Given the description of an element on the screen output the (x, y) to click on. 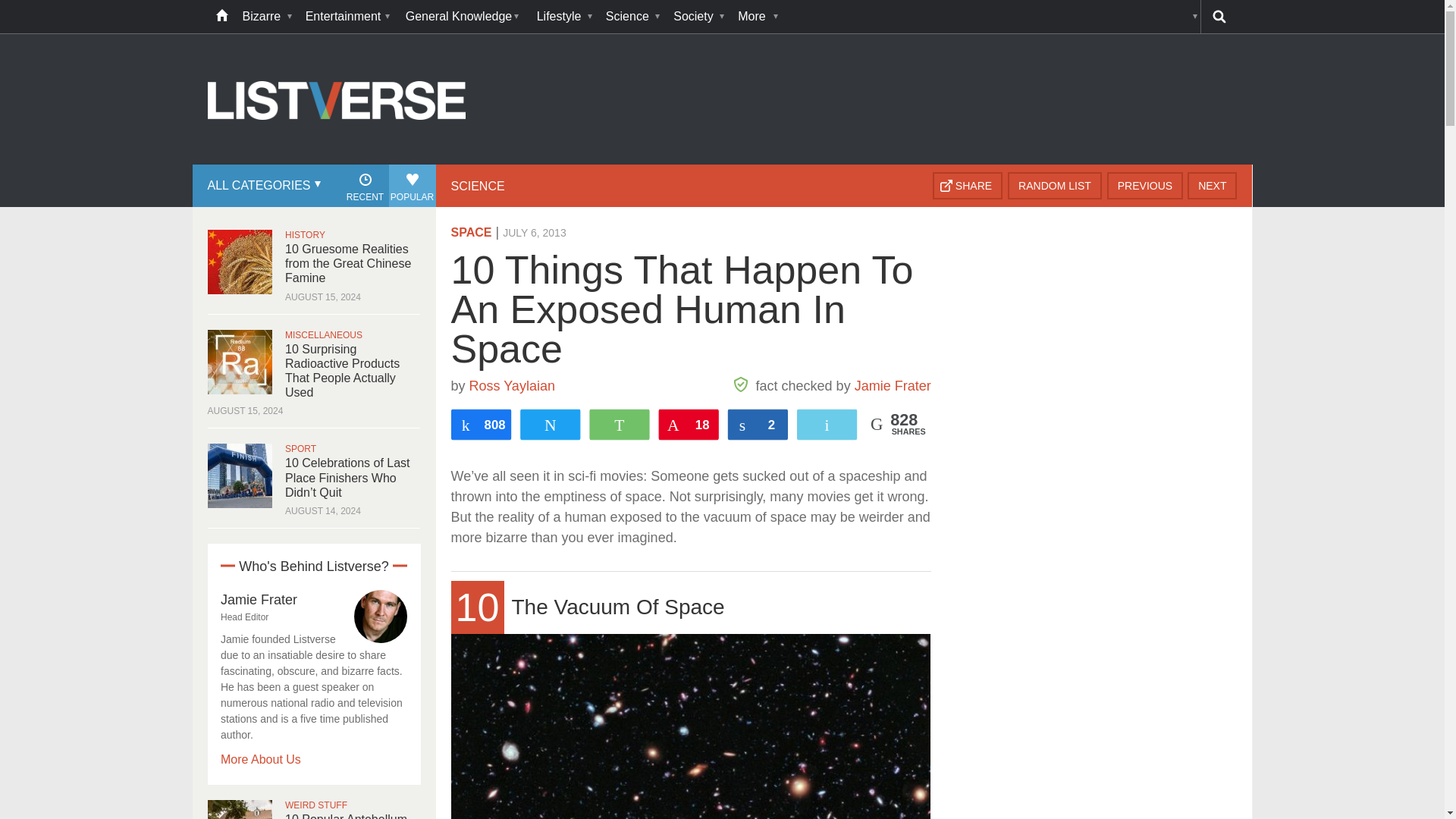
Society (697, 16)
General Knowledge (462, 16)
Lifestyle (563, 16)
Popular (411, 185)
Science (631, 16)
Bizarre (266, 16)
All Categories (262, 185)
Entertainment (347, 16)
More (756, 16)
Share (968, 185)
